Given the description of an element on the screen output the (x, y) to click on. 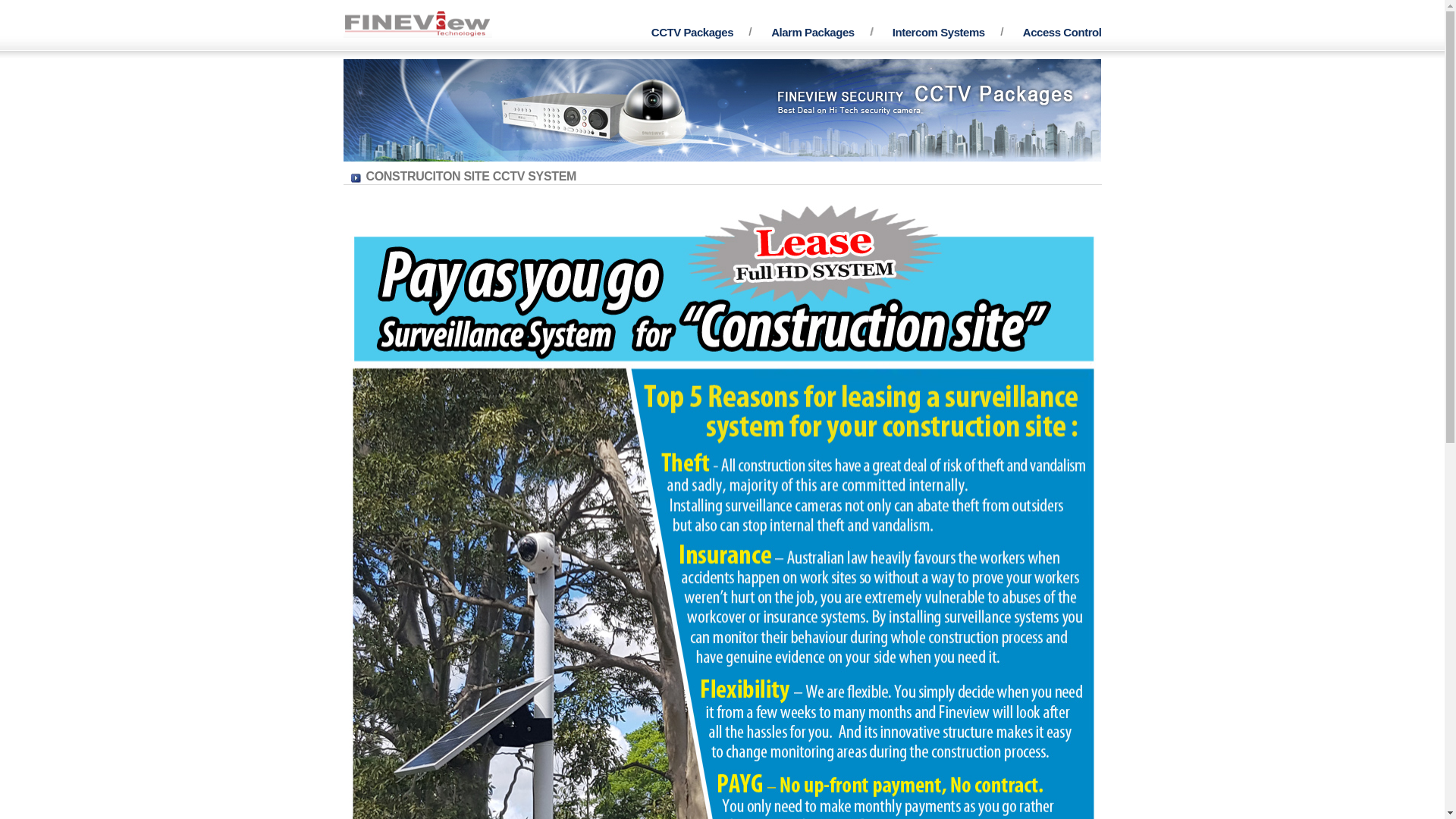
Alarm Packages Element type: text (812, 31)
Access Control Element type: text (1061, 31)
CCTV Packages Element type: text (692, 31)
Intercom Systems Element type: text (938, 31)
